Given the description of an element on the screen output the (x, y) to click on. 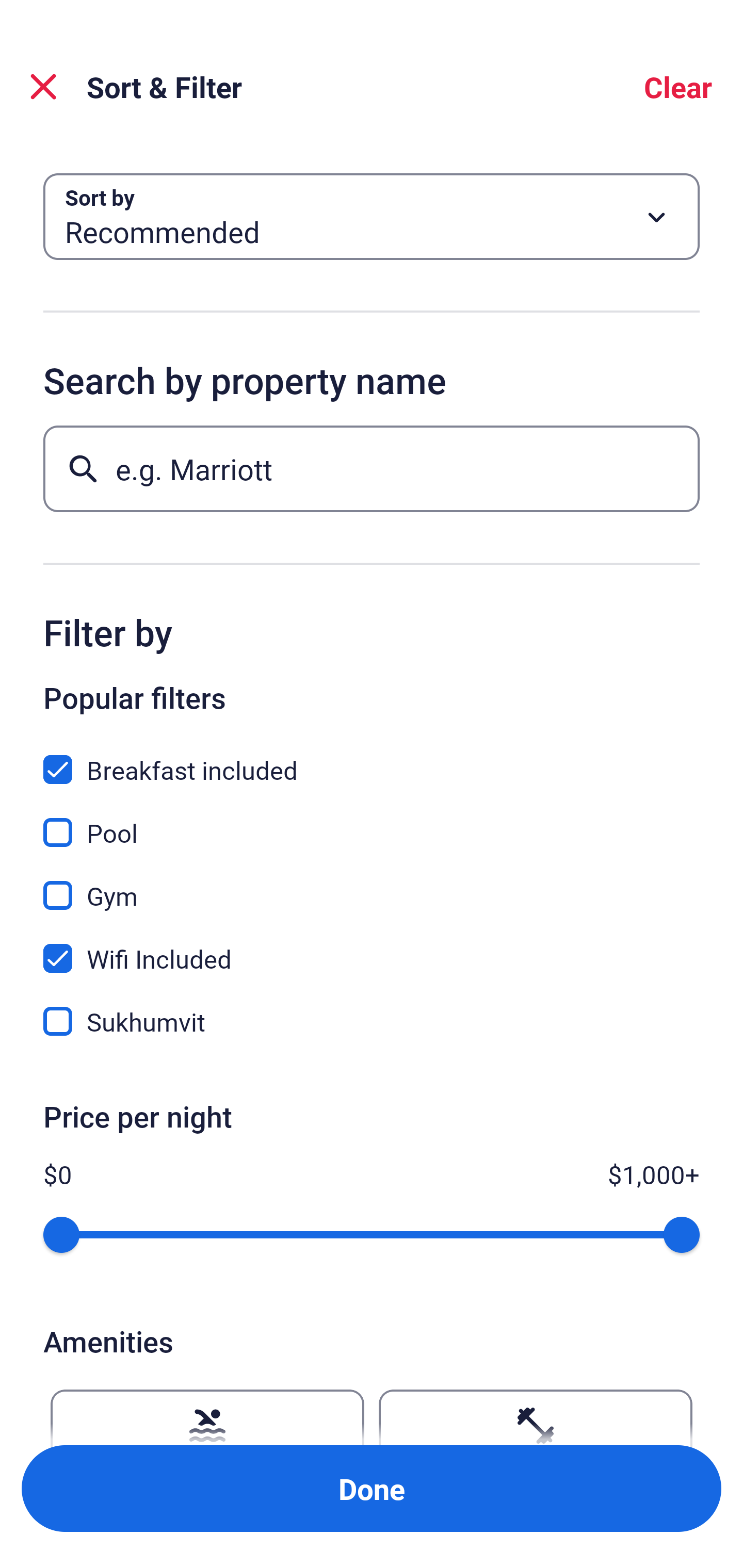
Close Sort and Filter (43, 86)
Clear (677, 86)
Sort by Button Recommended (371, 217)
e.g. Marriott Button (371, 468)
Breakfast included, Breakfast included (371, 757)
Pool, Pool (371, 821)
Gym, Gym (371, 883)
Wifi Included, Wifi Included (371, 946)
Sukhumvit, Sukhumvit (371, 1021)
Apply and close Sort and Filter Done (371, 1488)
